Given the description of an element on the screen output the (x, y) to click on. 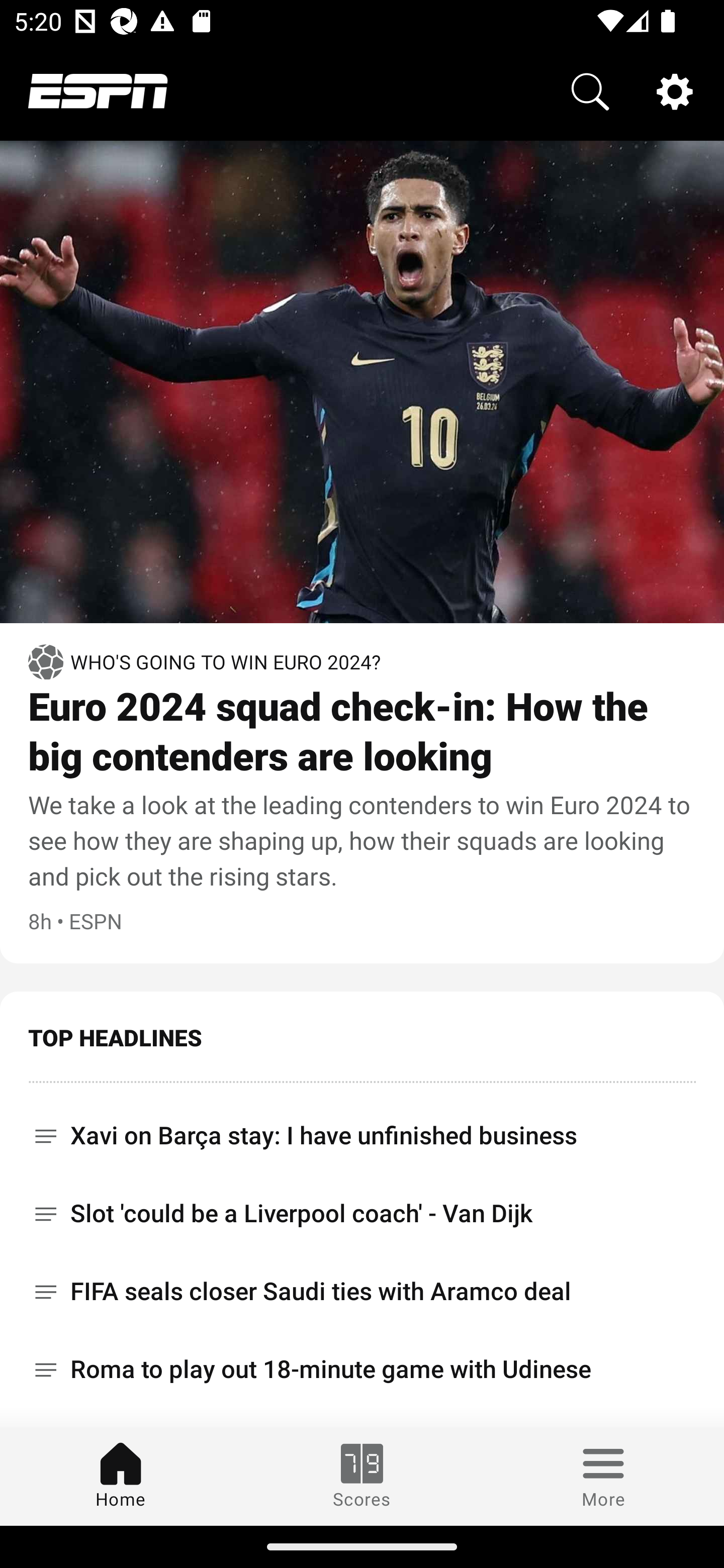
Search (590, 90)
Settings (674, 90)
 Xavi on Barça stay: I have unfinished business (362, 1128)
 Slot 'could be a Liverpool coach' - Van Dijk (362, 1213)
 FIFA seals closer Saudi ties with Aramco deal (362, 1291)
 Roma to play out 18-minute game with Udinese (362, 1369)
Scores (361, 1475)
More (603, 1475)
